Given the description of an element on the screen output the (x, y) to click on. 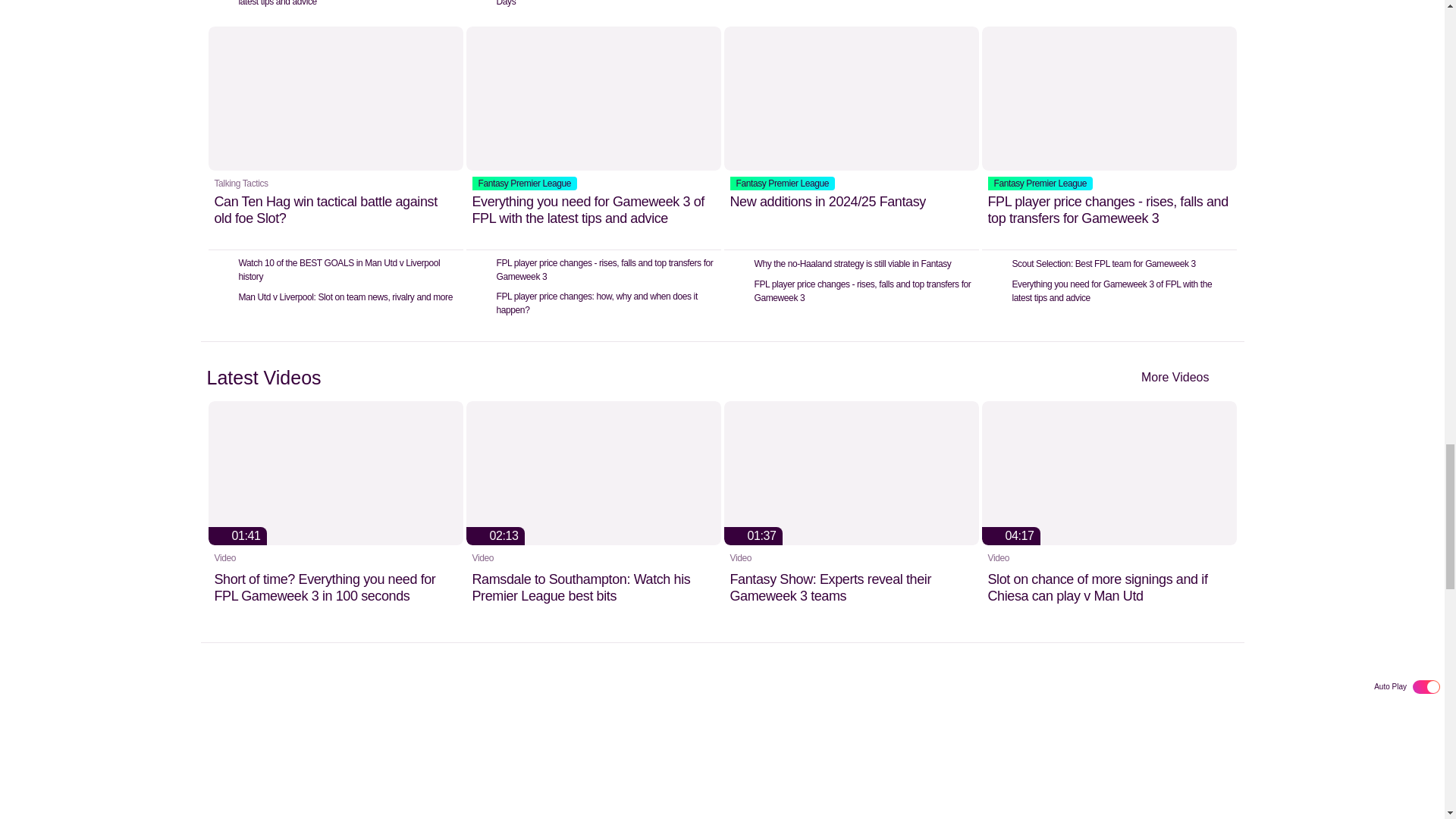
Ramsdale to Southampton: Watch his Premier League best bits (592, 512)
Fantasy Show: Experts reveal their Gameweek 3 teams (850, 512)
Can Ten Hag win tactical battle against old foe Slot? (335, 137)
